Given the description of an element on the screen output the (x, y) to click on. 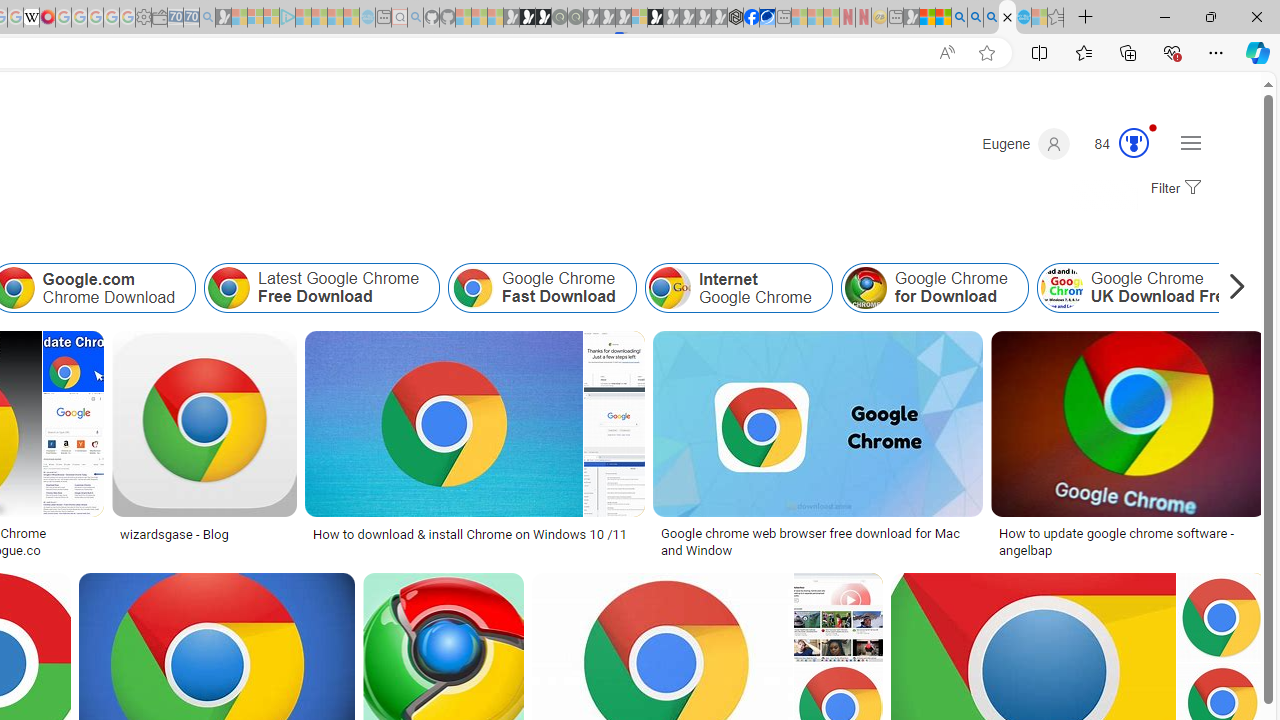
Latest Google Chrome Free Download (228, 287)
Class: item col (1144, 287)
Filter (1173, 189)
Microsoft Start Gaming - Sleeping (223, 17)
wizardsgase - BlogSave (208, 448)
Bing Real Estate - Home sales and rental listings - Sleeping (207, 17)
Animation (1153, 127)
Latest Google Chrome Free Download (322, 287)
